Given the description of an element on the screen output the (x, y) to click on. 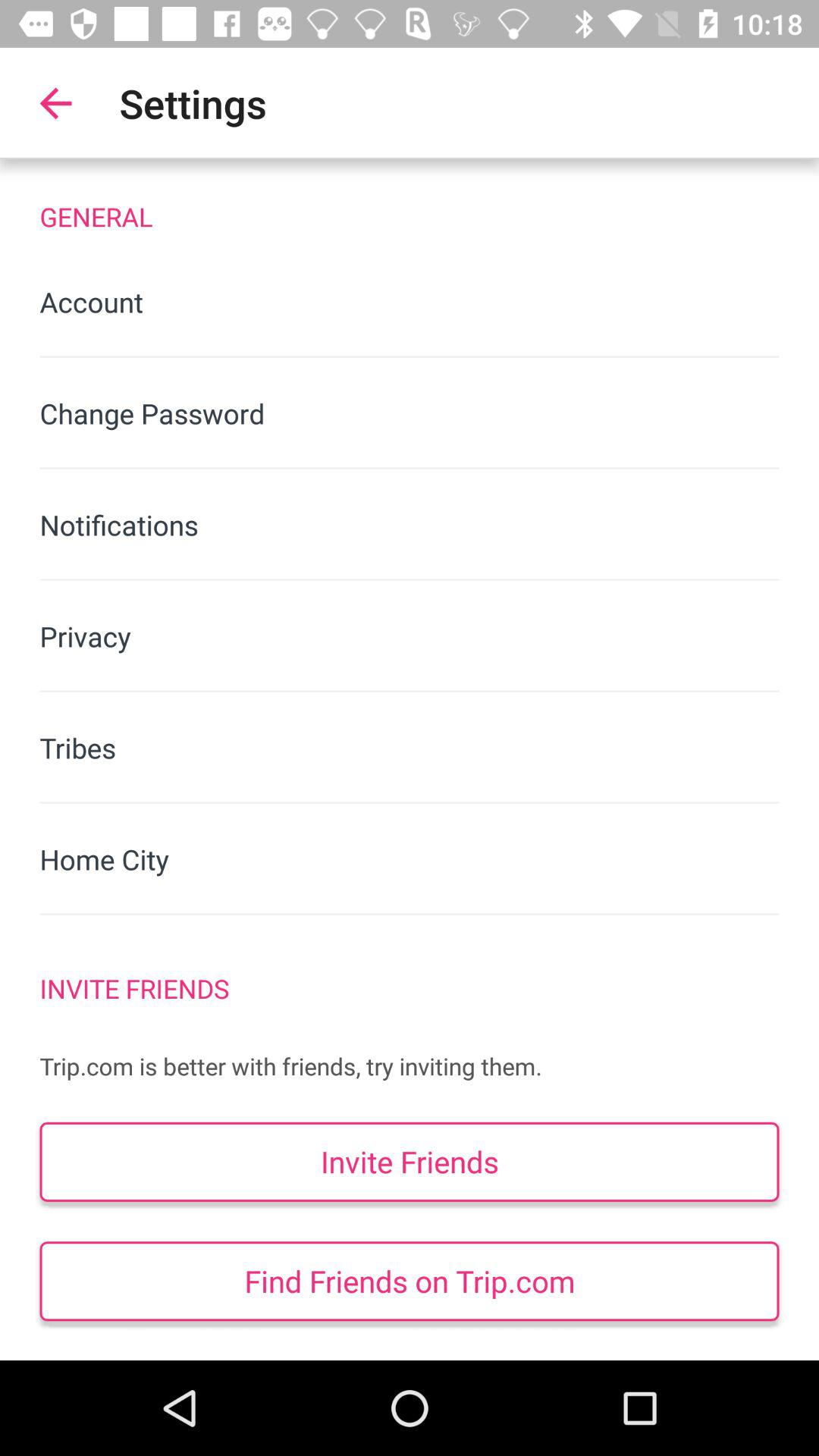
swipe until tribes (409, 747)
